Given the description of an element on the screen output the (x, y) to click on. 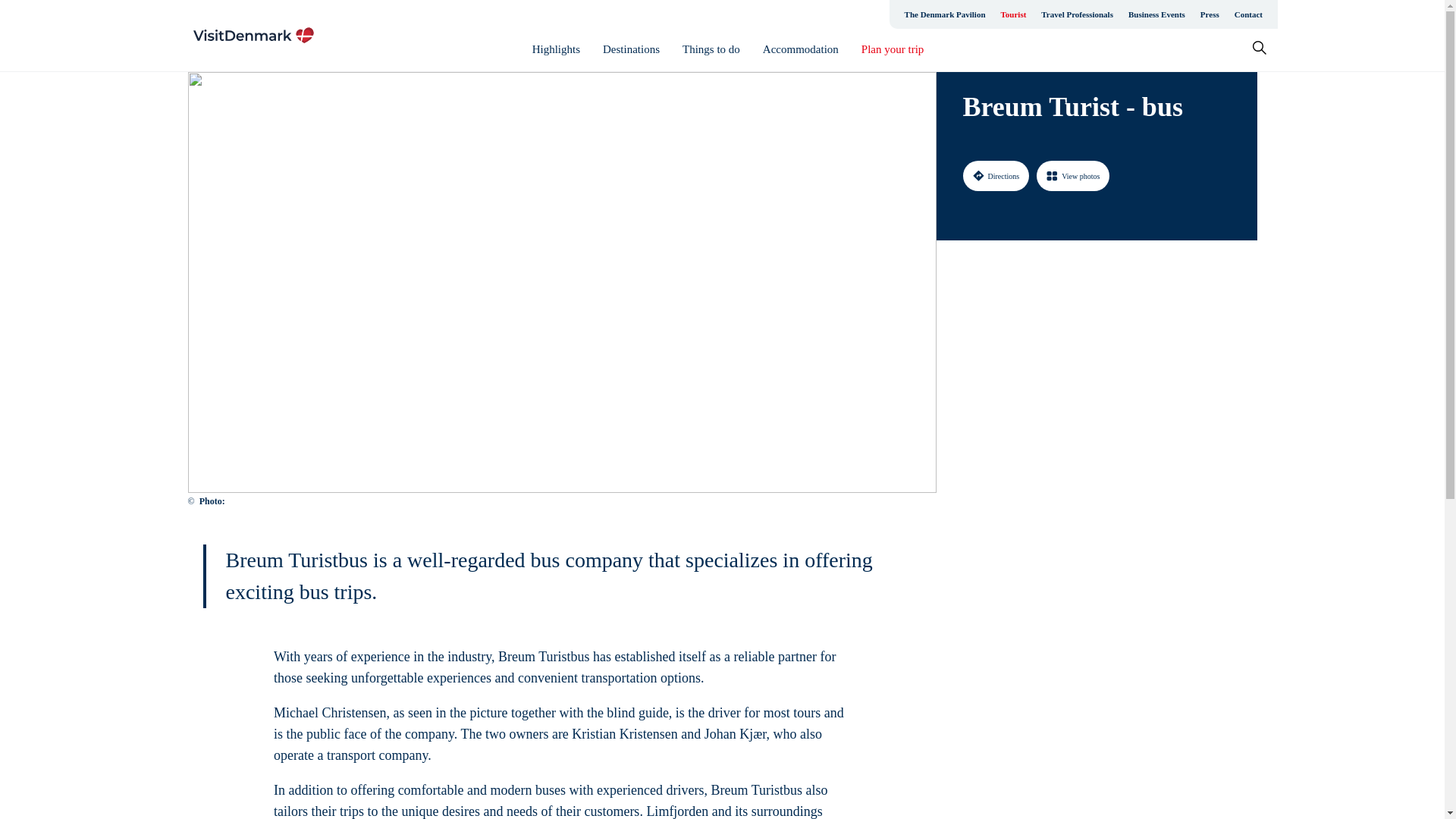
Destinations (630, 49)
Press (1209, 14)
Business Events (1156, 14)
View photos (1072, 175)
Plan your trip (892, 49)
Travel Professionals (1077, 14)
Directions (995, 175)
Accommodation (800, 49)
Things to do (710, 49)
Contact (1248, 14)
